Given the description of an element on the screen output the (x, y) to click on. 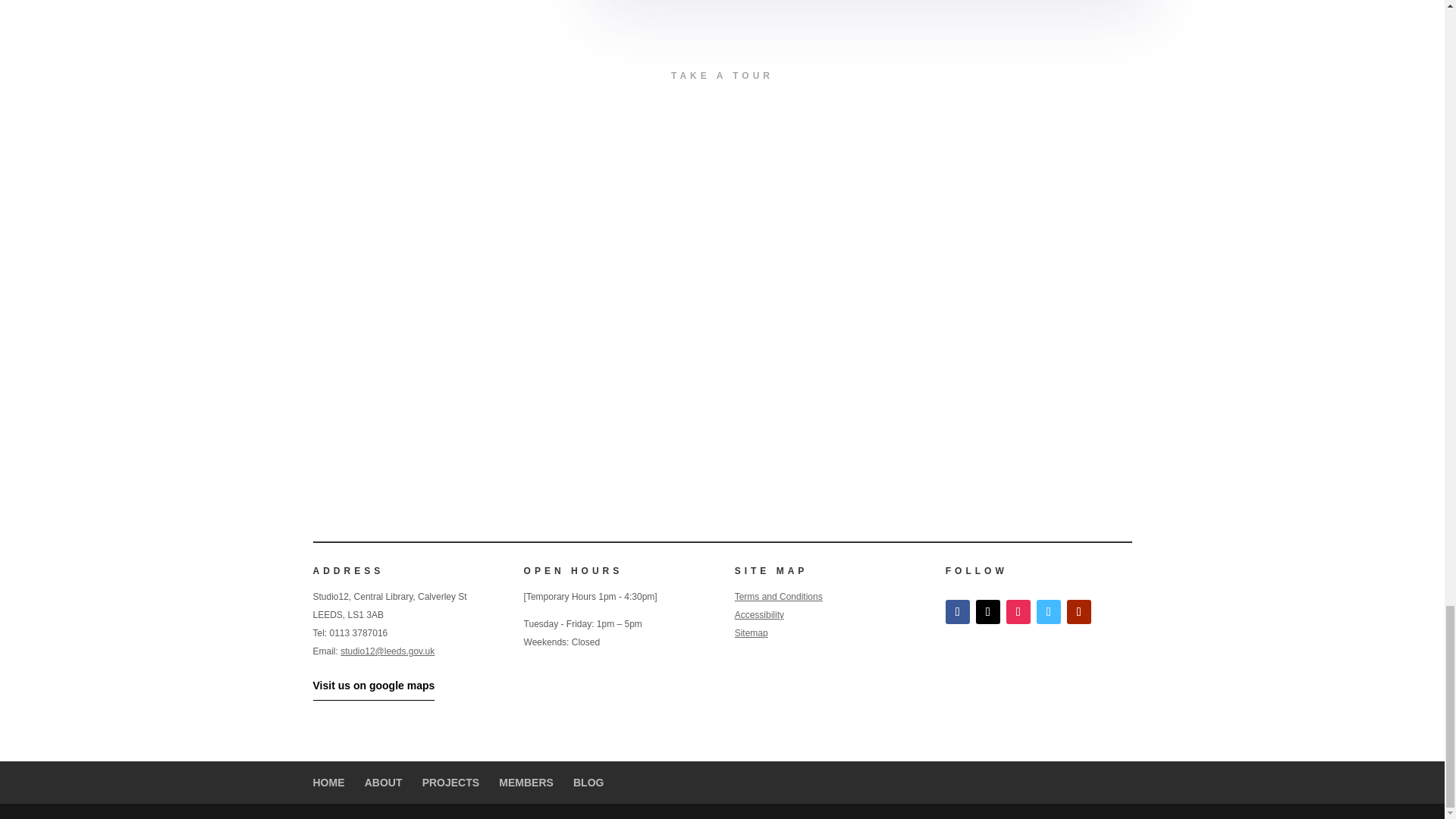
Accessibility (759, 614)
Visit us on google maps (373, 686)
Terms and Conditions (778, 596)
